Given the description of an element on the screen output the (x, y) to click on. 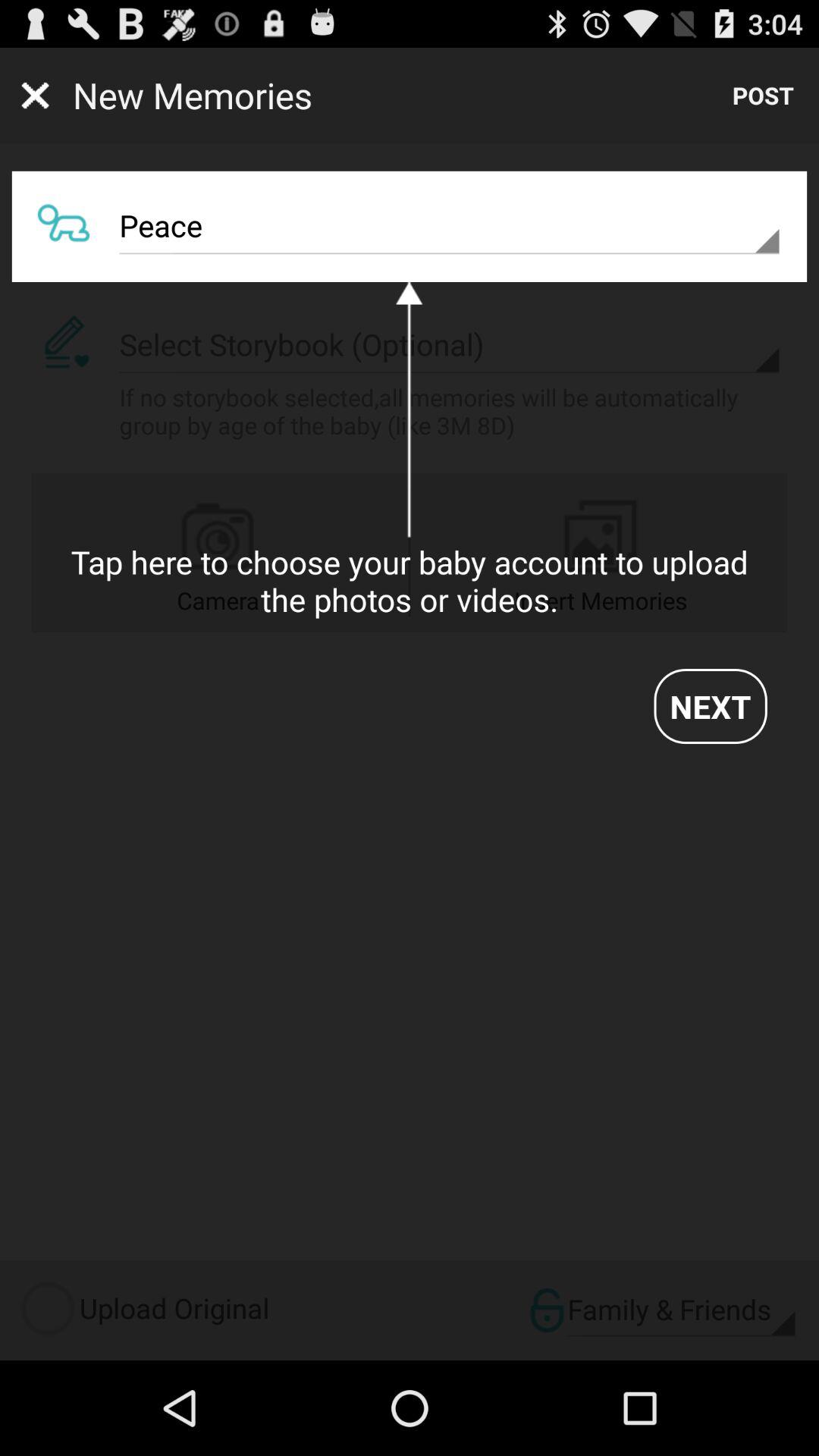
click the next (710, 705)
